Given the description of an element on the screen output the (x, y) to click on. 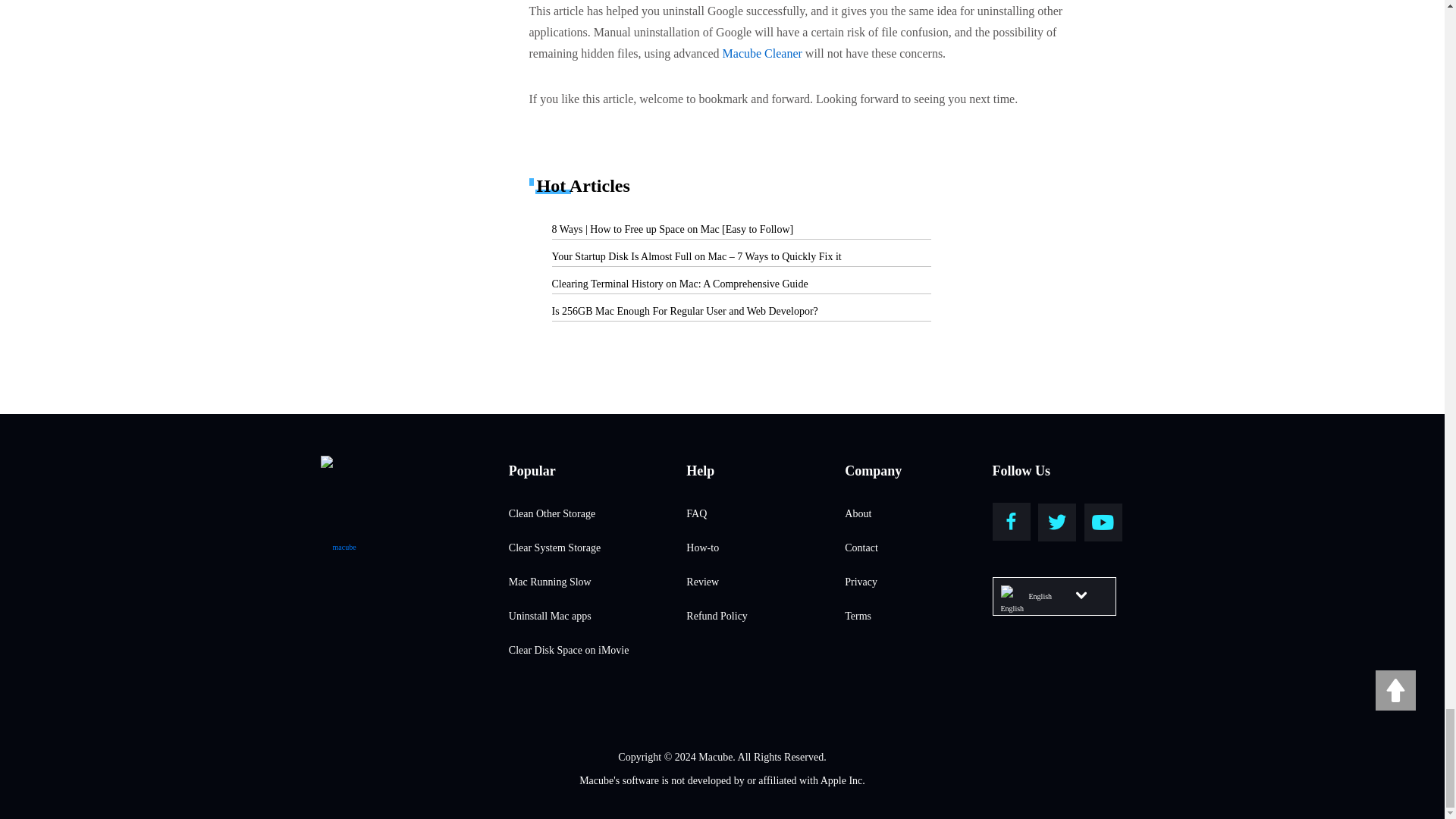
Mac Running Slow (597, 581)
Clear System Storage (597, 548)
Clear Disk Space on iMovie (597, 650)
Uninstall Mac apps (597, 616)
Clean Other Storage (597, 513)
Is 256GB Mac Enough For Regular User and Web Developor? (684, 310)
Clearing Terminal History on Mac: A Comprehensive Guide (679, 283)
Macube Cleaner (762, 52)
